Given the description of an element on the screen output the (x, y) to click on. 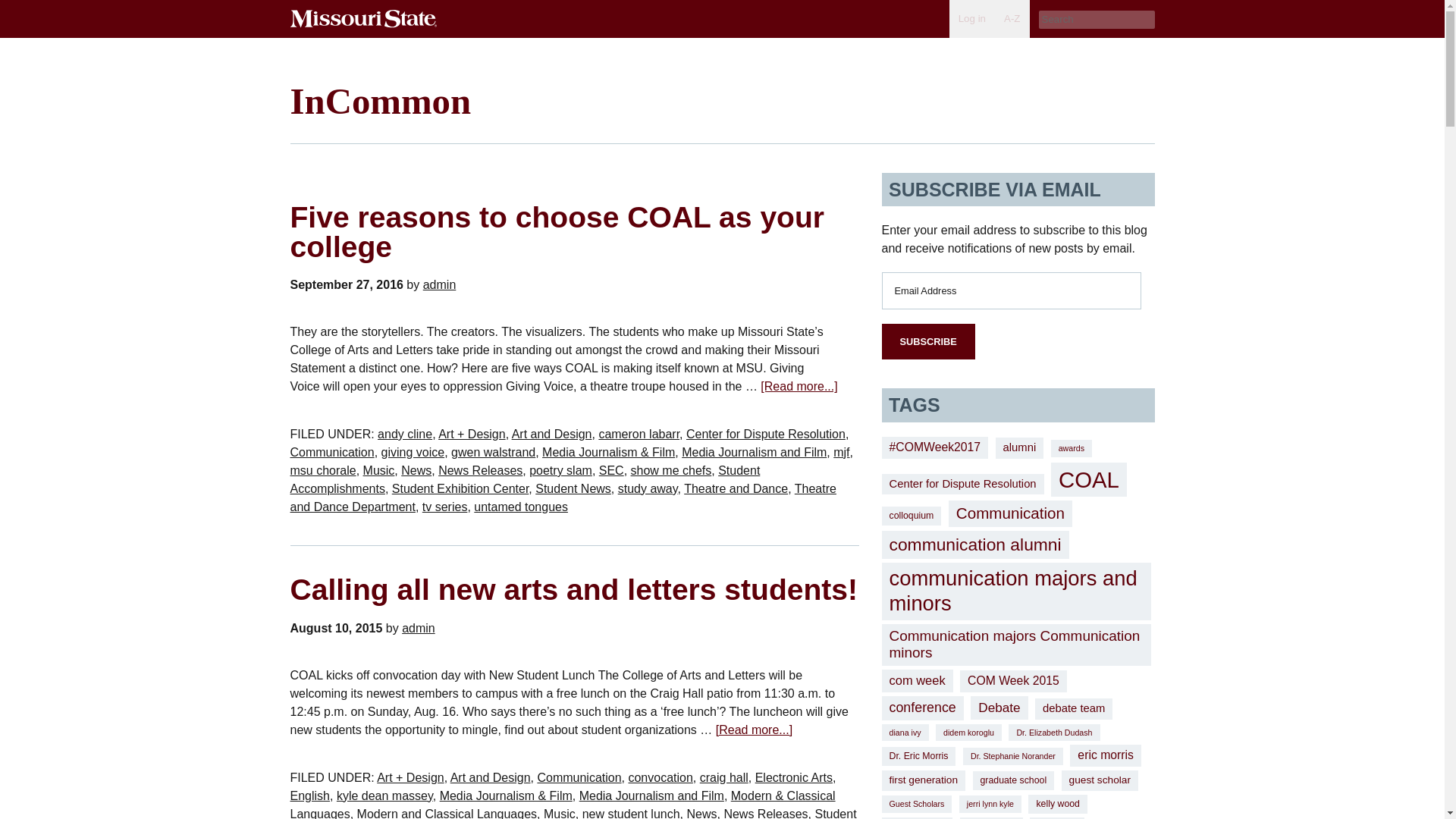
Five reasons to choose COAL as your college (556, 231)
InCommon (379, 101)
admin (440, 284)
Log in (971, 18)
andy cline (404, 433)
A-Z (1011, 18)
